Given the description of an element on the screen output the (x, y) to click on. 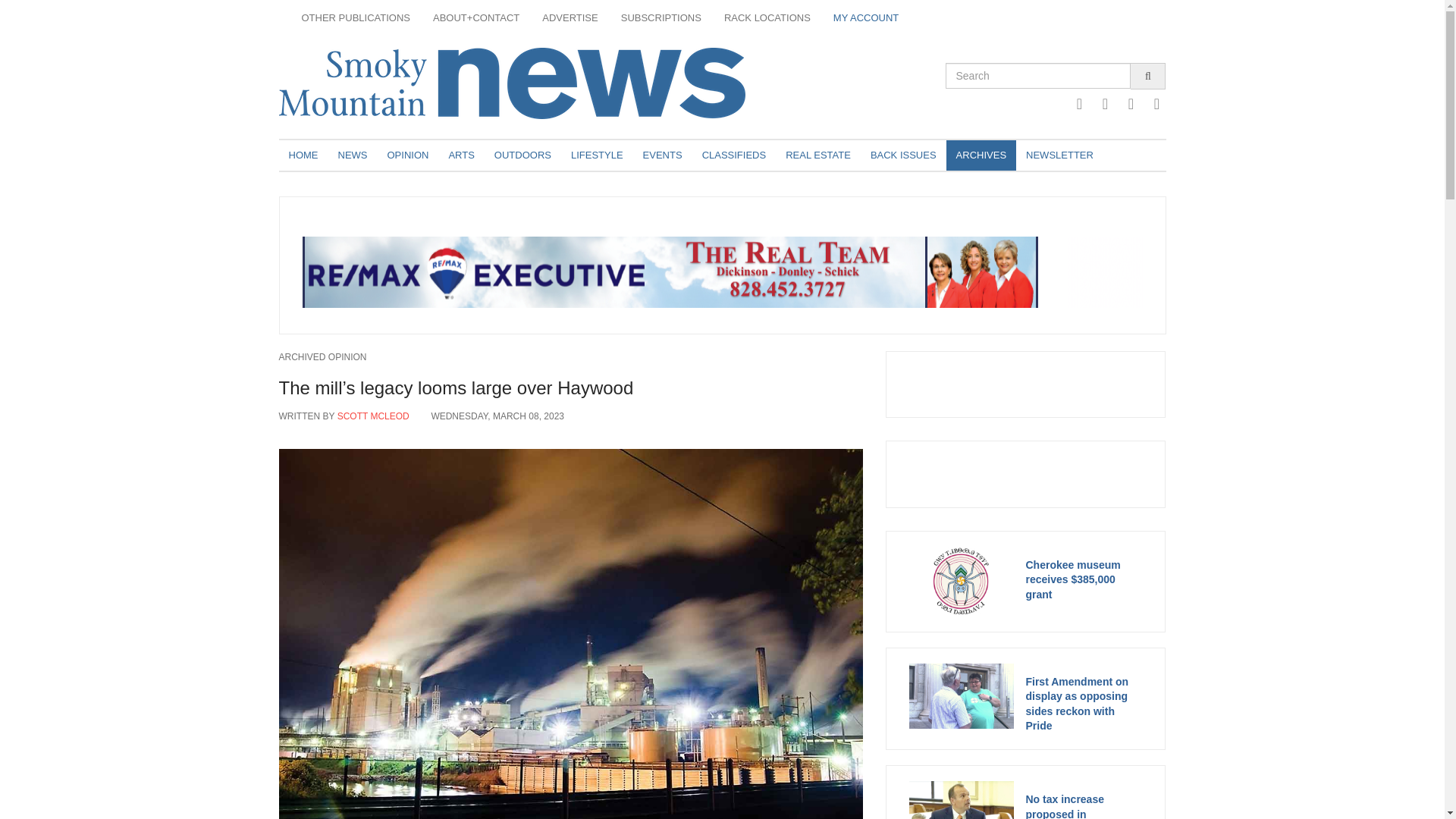
SUBSCRIPTIONS (661, 18)
MY ACCOUNT (866, 18)
Smoky Mountain News (533, 82)
HOME (304, 155)
OTHER PUBLICATIONS (355, 18)
RACK LOCATIONS (767, 18)
ADVERTISE (569, 18)
3rd party ad content (721, 271)
